Given the description of an element on the screen output the (x, y) to click on. 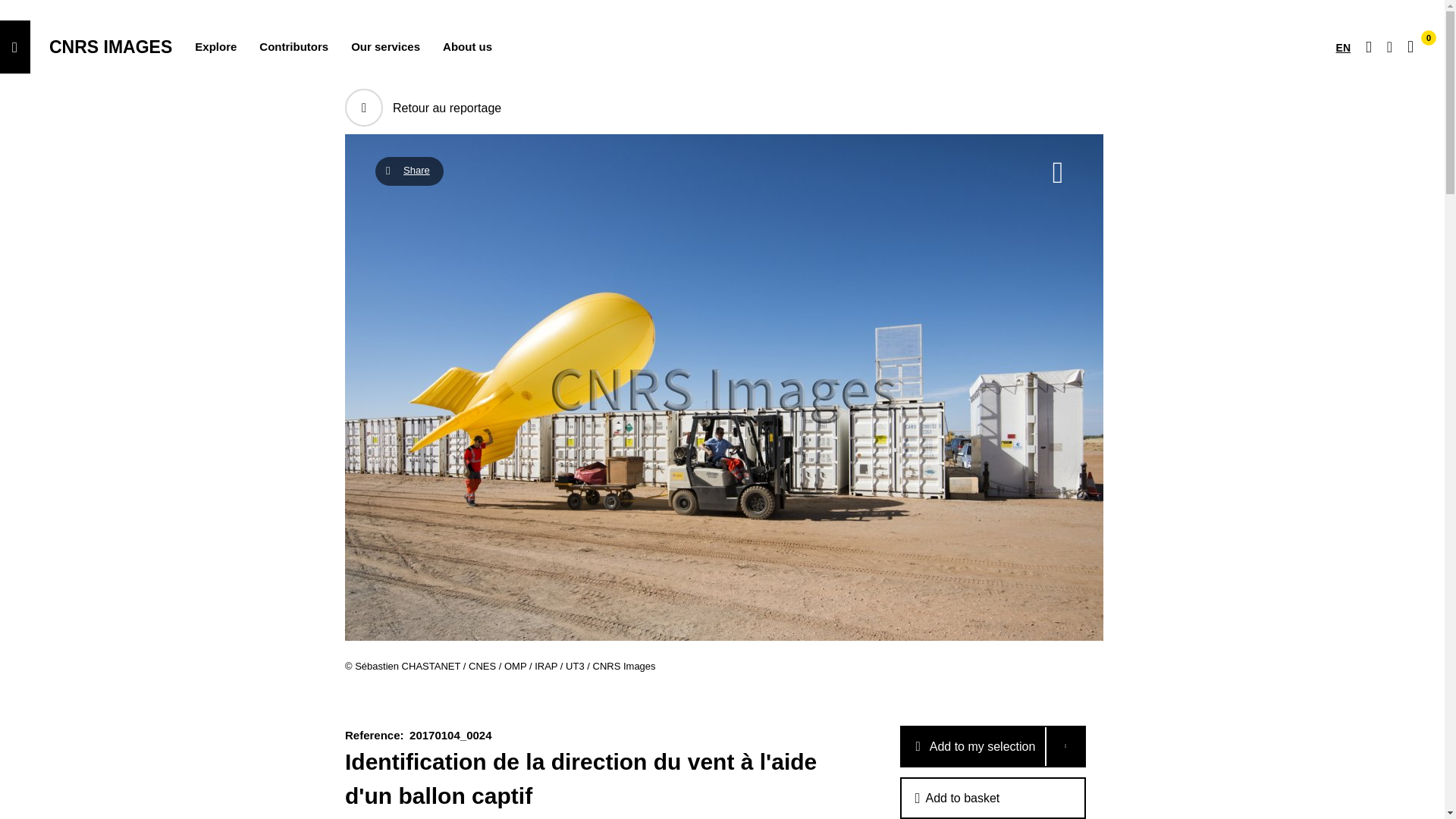
CNRS IMAGES (110, 46)
Skip to content (15, 46)
